Given the description of an element on the screen output the (x, y) to click on. 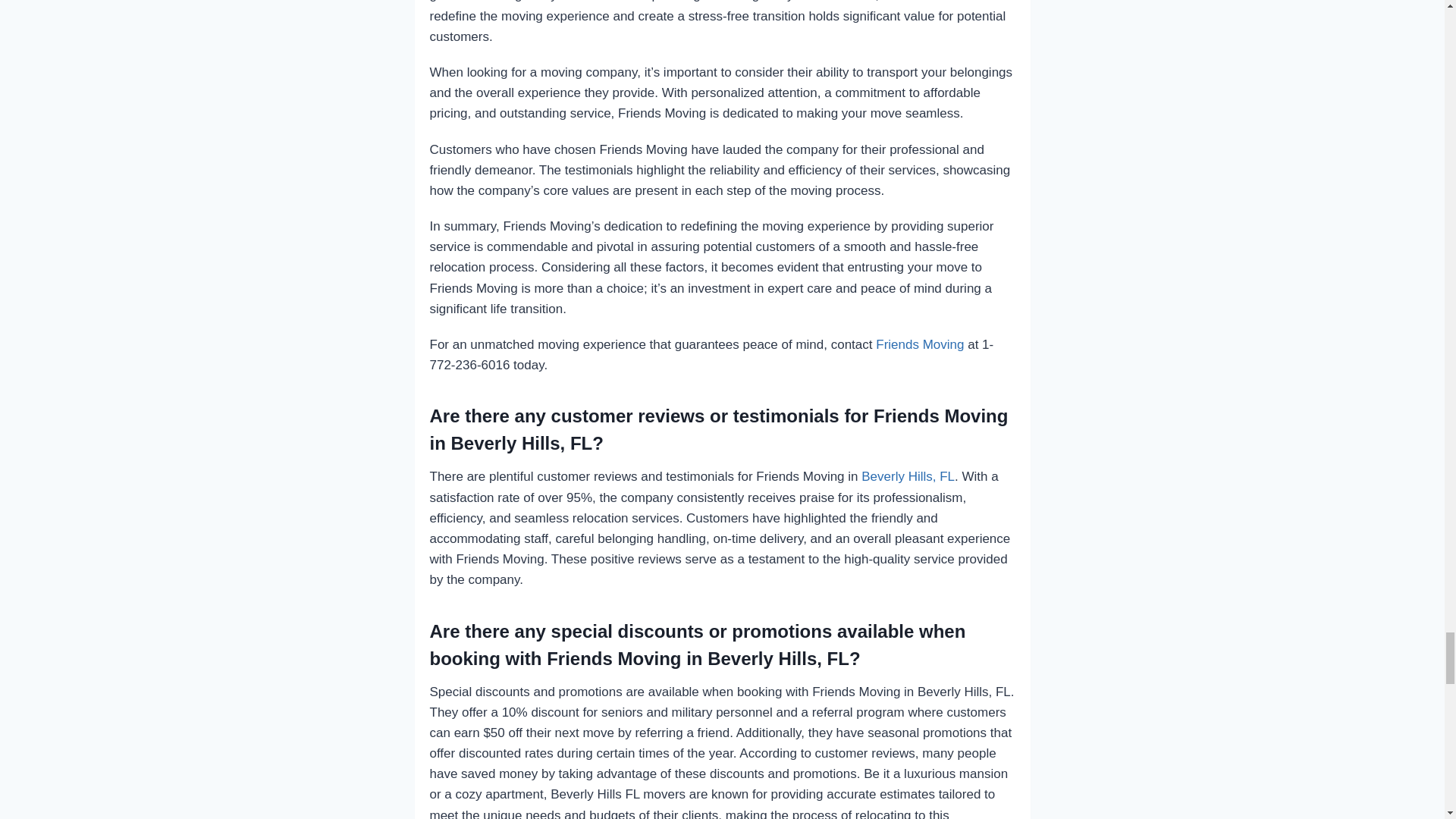
Friends Moving (919, 344)
Beverly Hills, FL (908, 476)
